Given the description of an element on the screen output the (x, y) to click on. 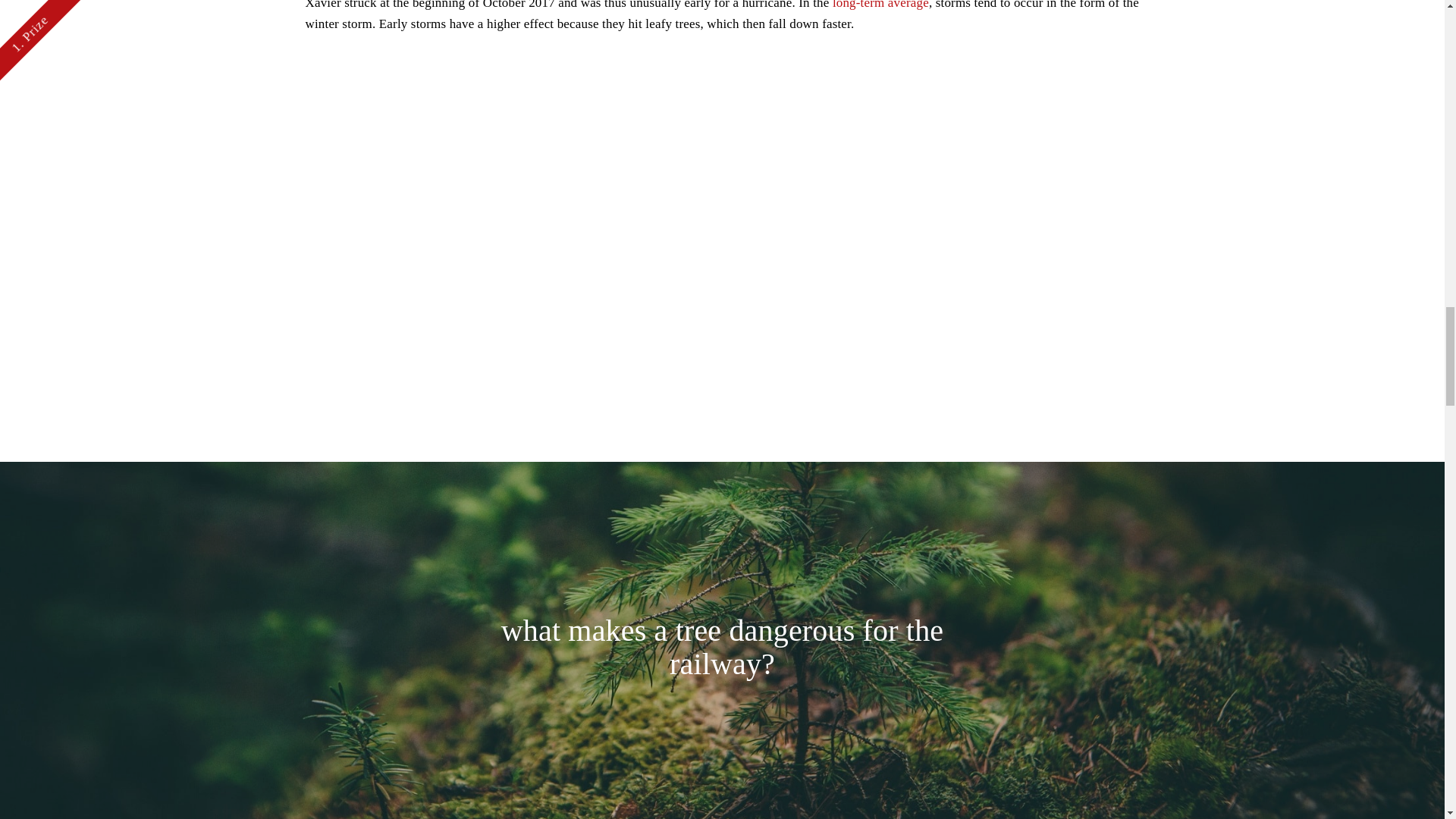
long-term average (880, 4)
